Given the description of an element on the screen output the (x, y) to click on. 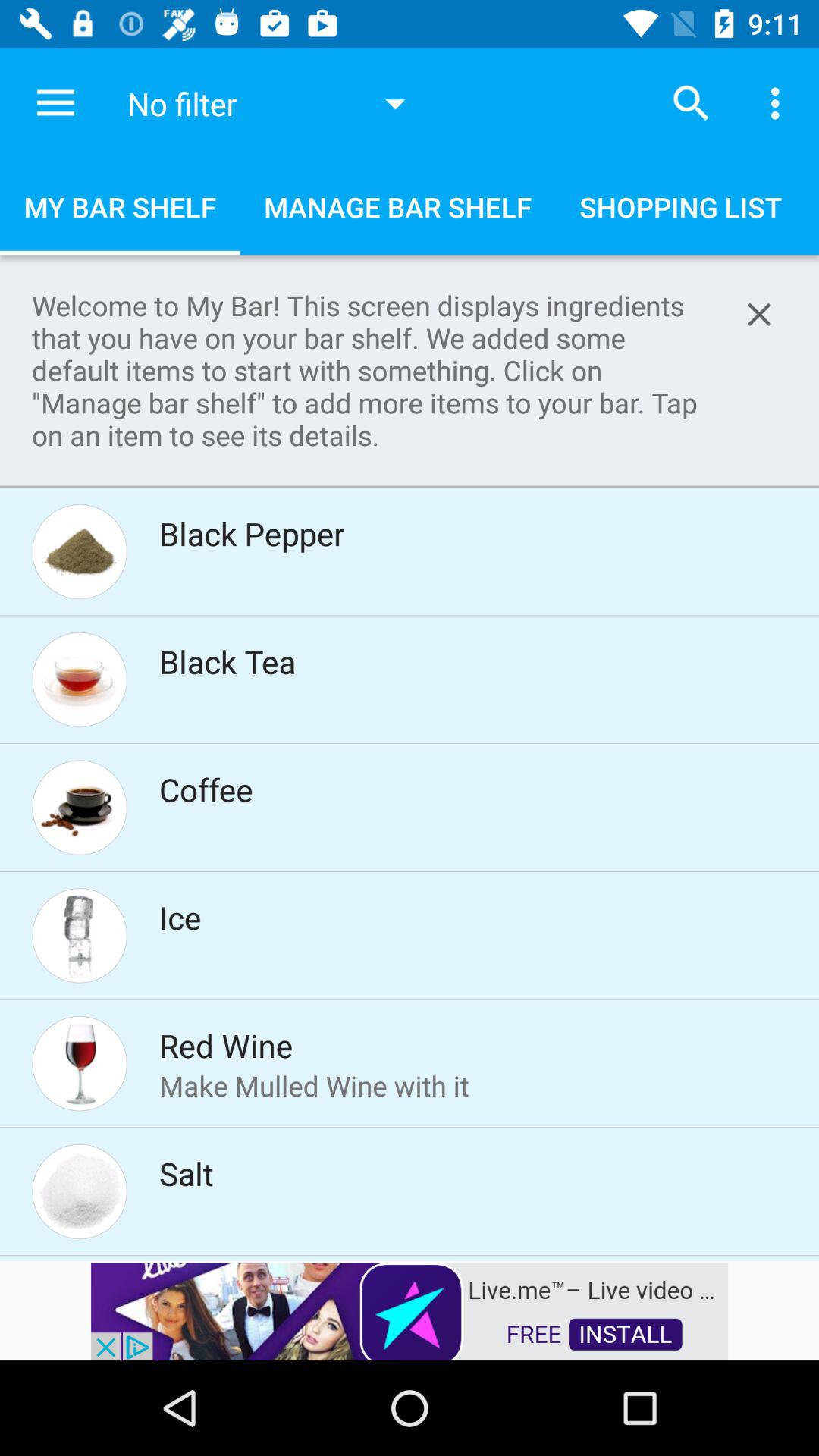
close button (759, 314)
